Given the description of an element on the screen output the (x, y) to click on. 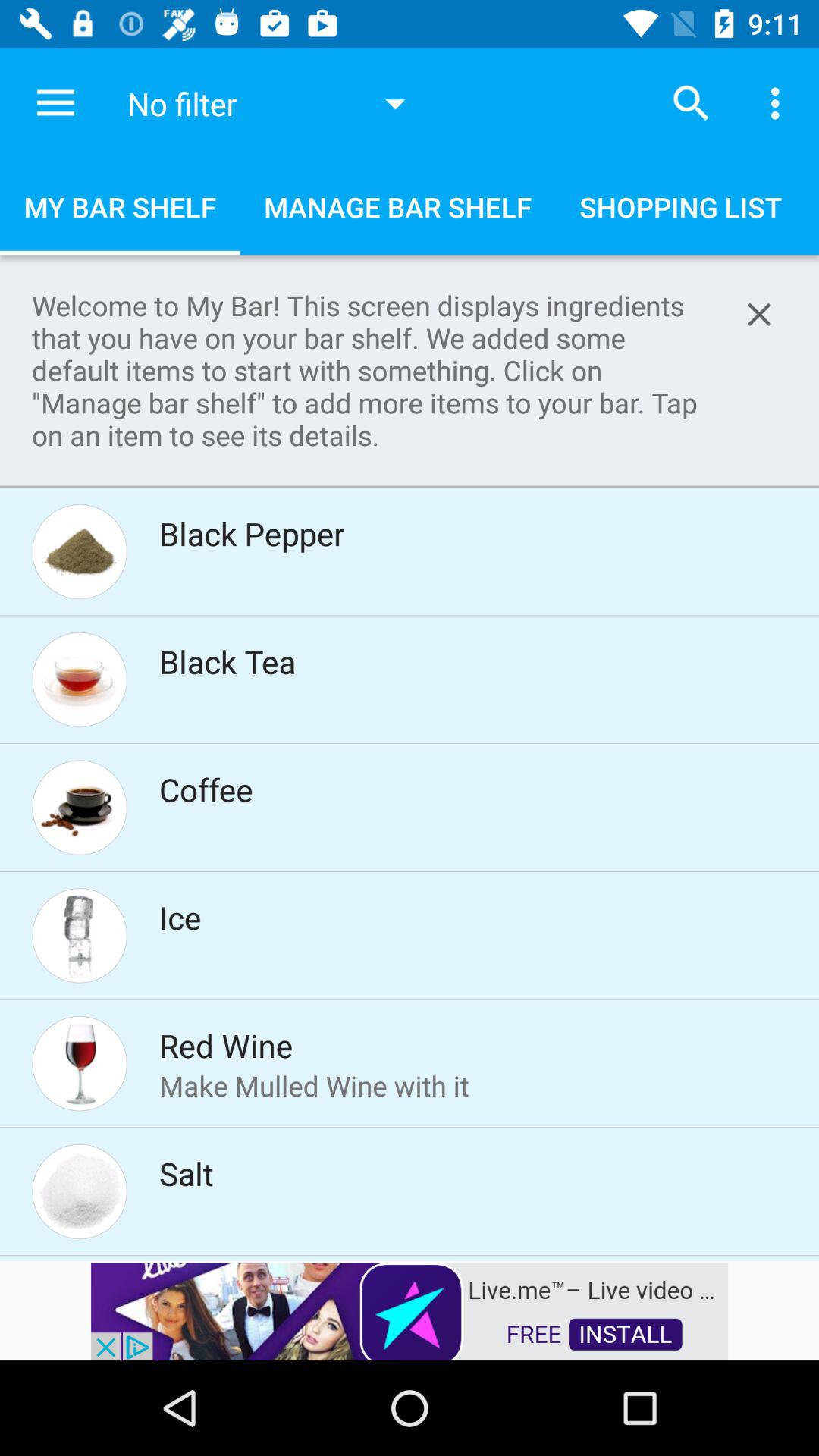
close button (759, 314)
